Given the description of an element on the screen output the (x, y) to click on. 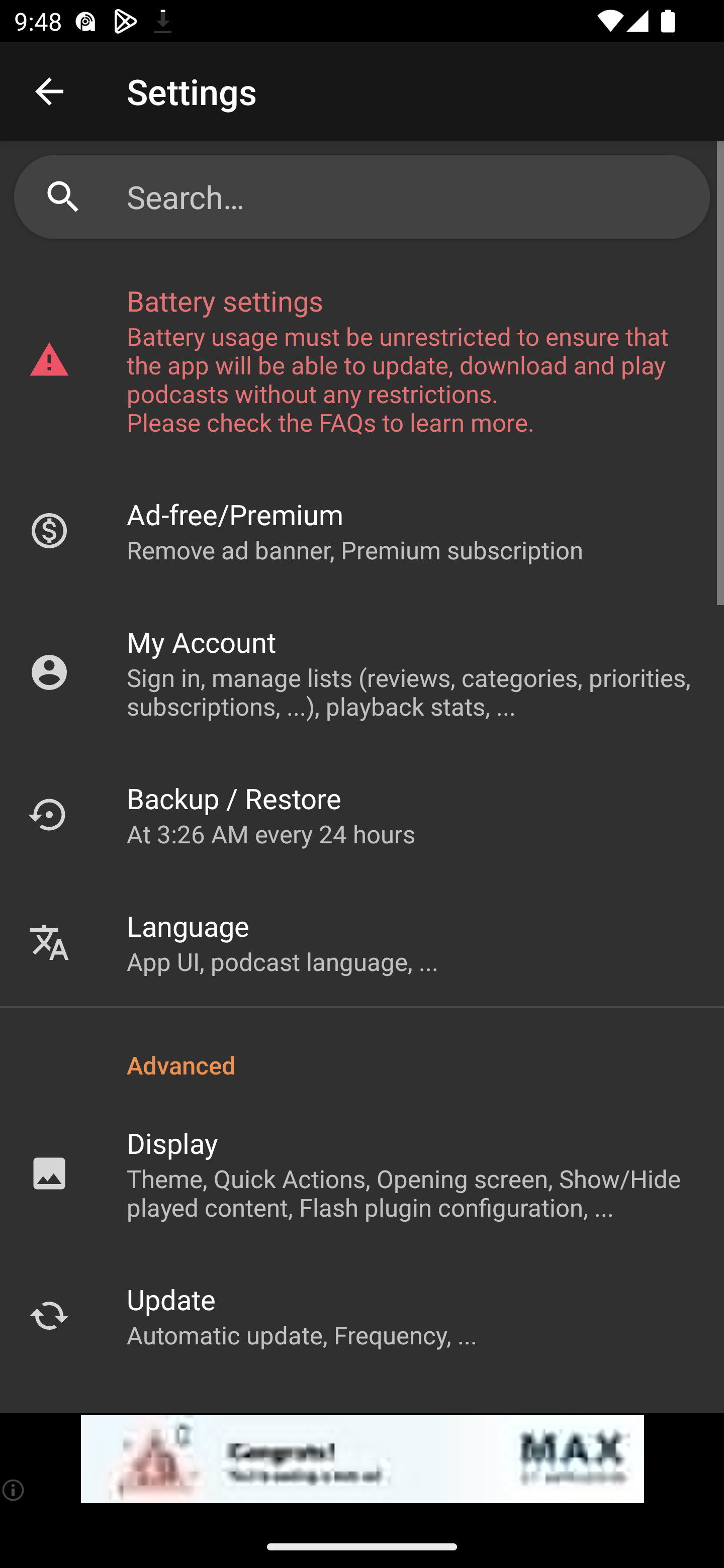
Navigate up (49, 91)
Search… (361, 197)
Search… (410, 196)
Backup / Restore At 3:26 AM every 24 hours (362, 814)
Language App UI, podcast language, ... (362, 942)
Update Automatic update, Frequency, ... (362, 1315)
app-monetization (362, 1459)
(i) (14, 1489)
